Given the description of an element on the screen output the (x, y) to click on. 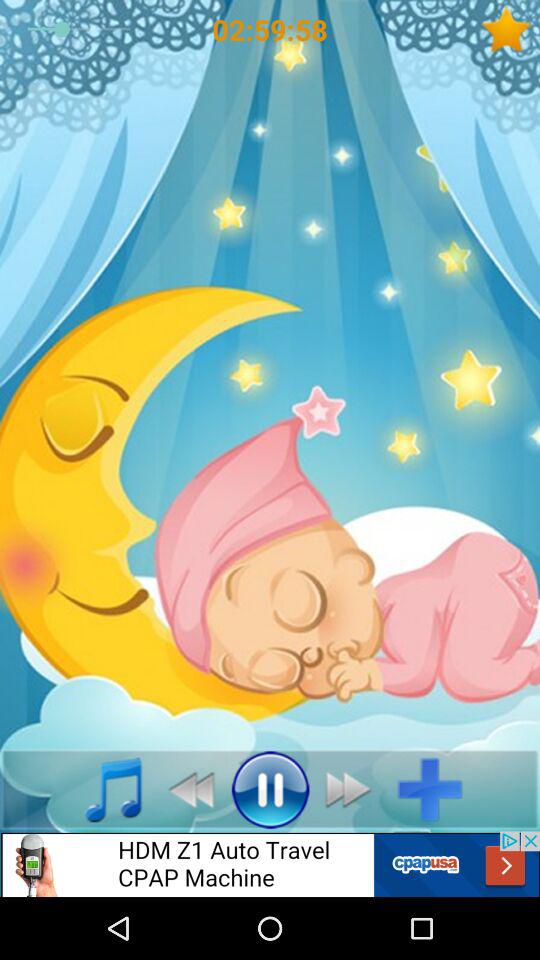
select a song (102, 789)
